Given the description of an element on the screen output the (x, y) to click on. 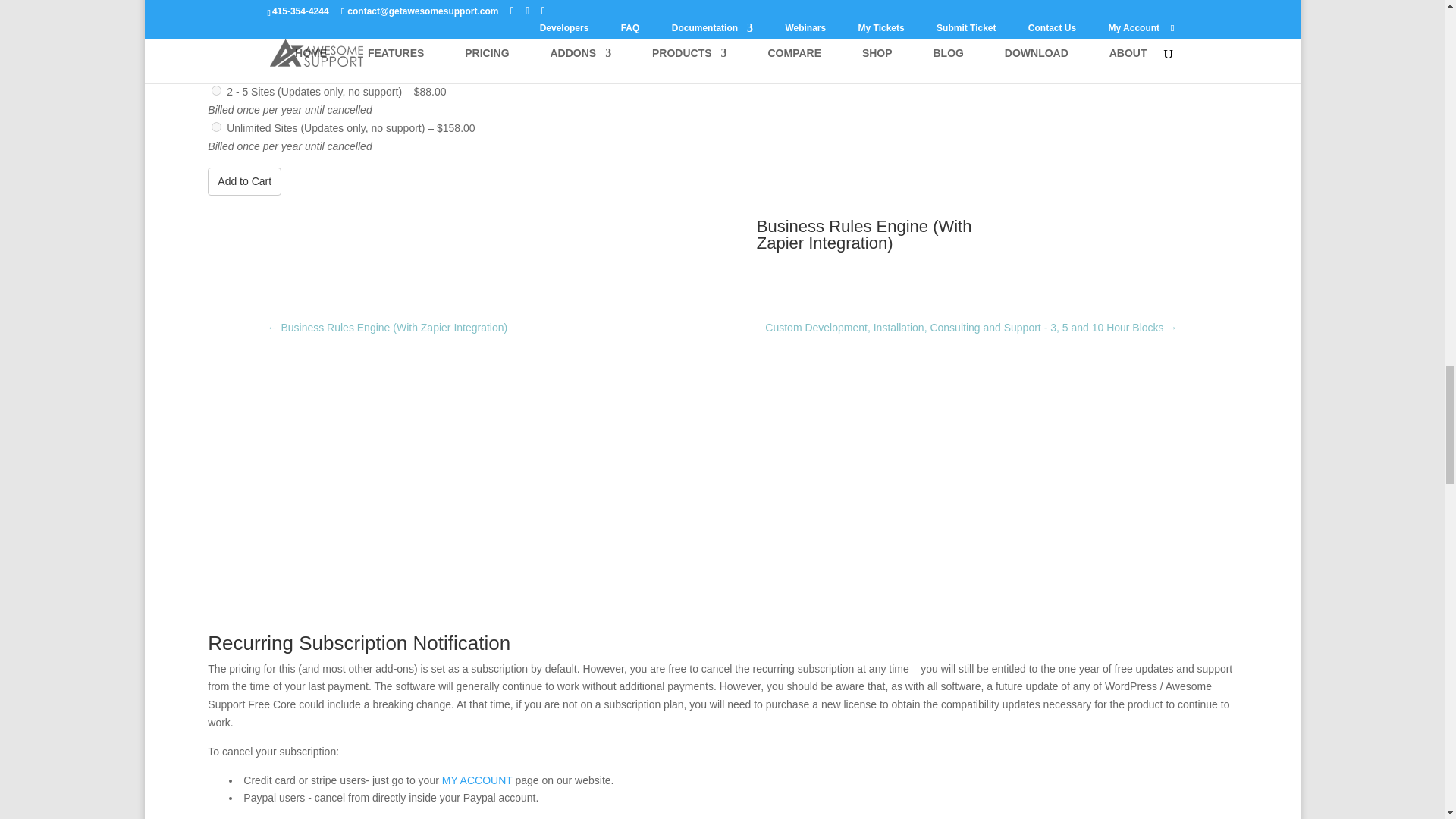
3 (216, 126)
2 (216, 90)
1 (216, 54)
Add to Cart (244, 181)
